Given the description of an element on the screen output the (x, y) to click on. 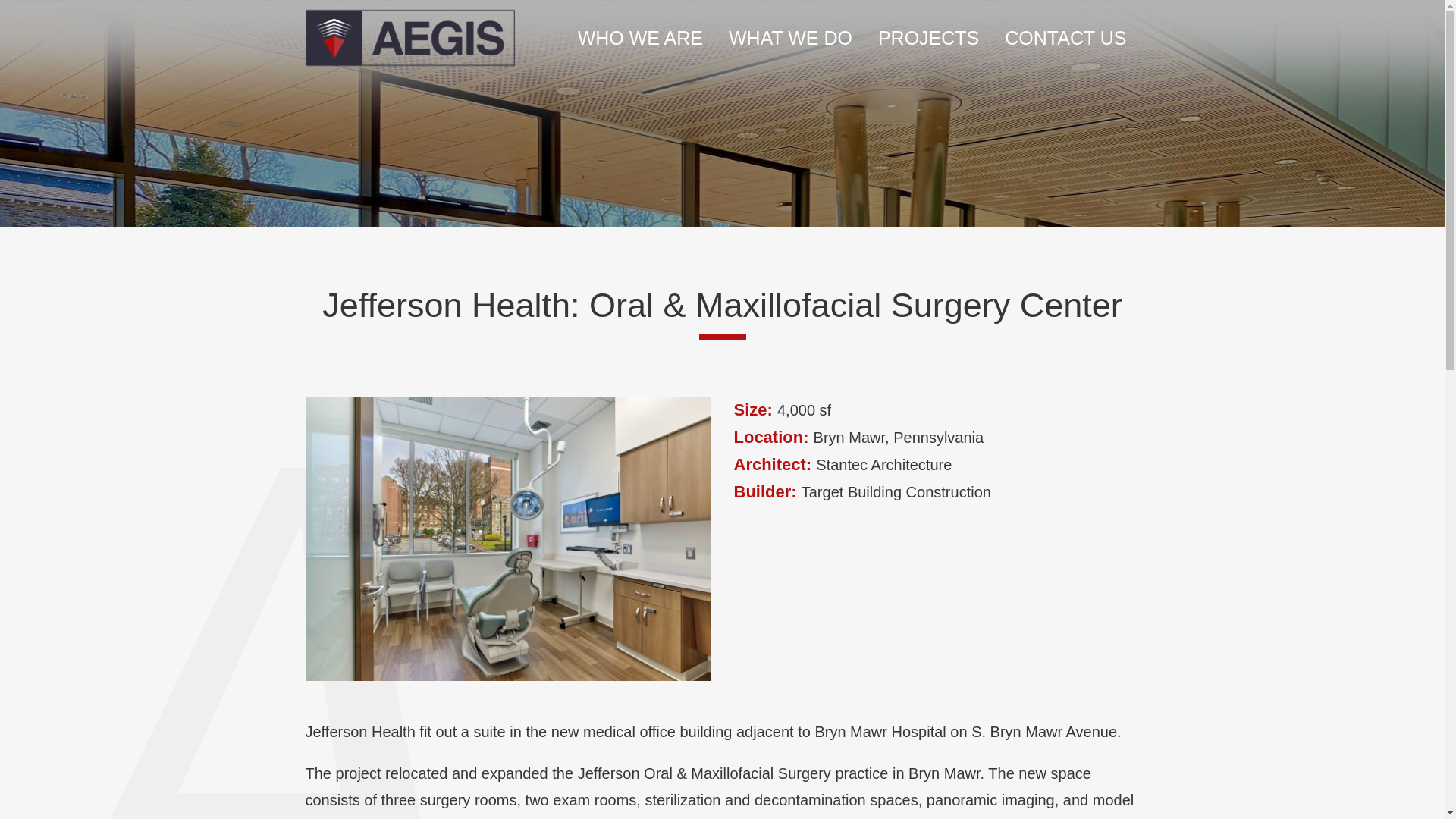
PROJECTS (927, 38)
WHAT WE DO (790, 38)
CONTACT US (1064, 38)
WHO WE ARE (640, 38)
